Given the description of an element on the screen output the (x, y) to click on. 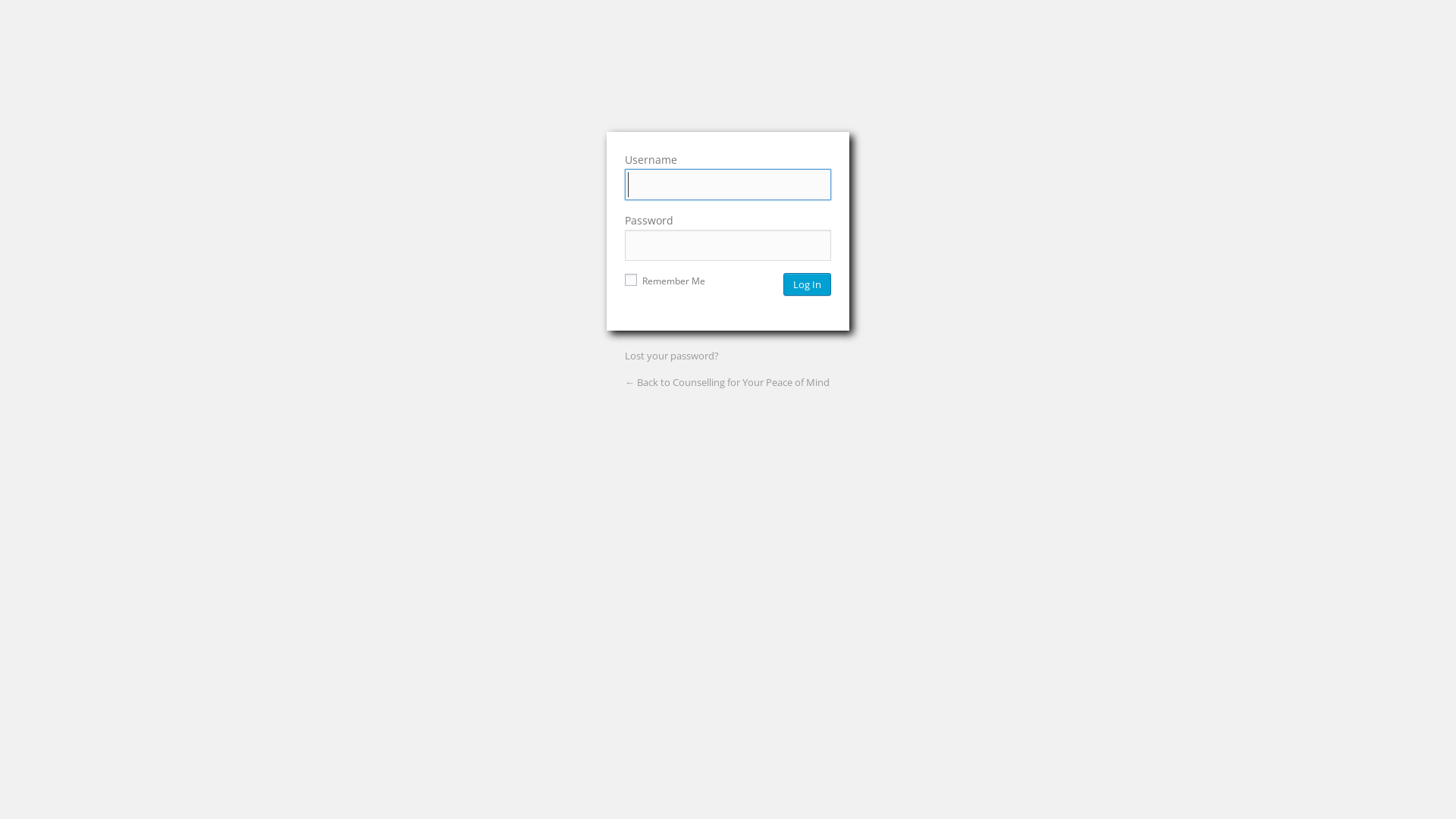
Lost your password? Element type: text (671, 355)
Log In Element type: text (807, 284)
